Given the description of an element on the screen output the (x, y) to click on. 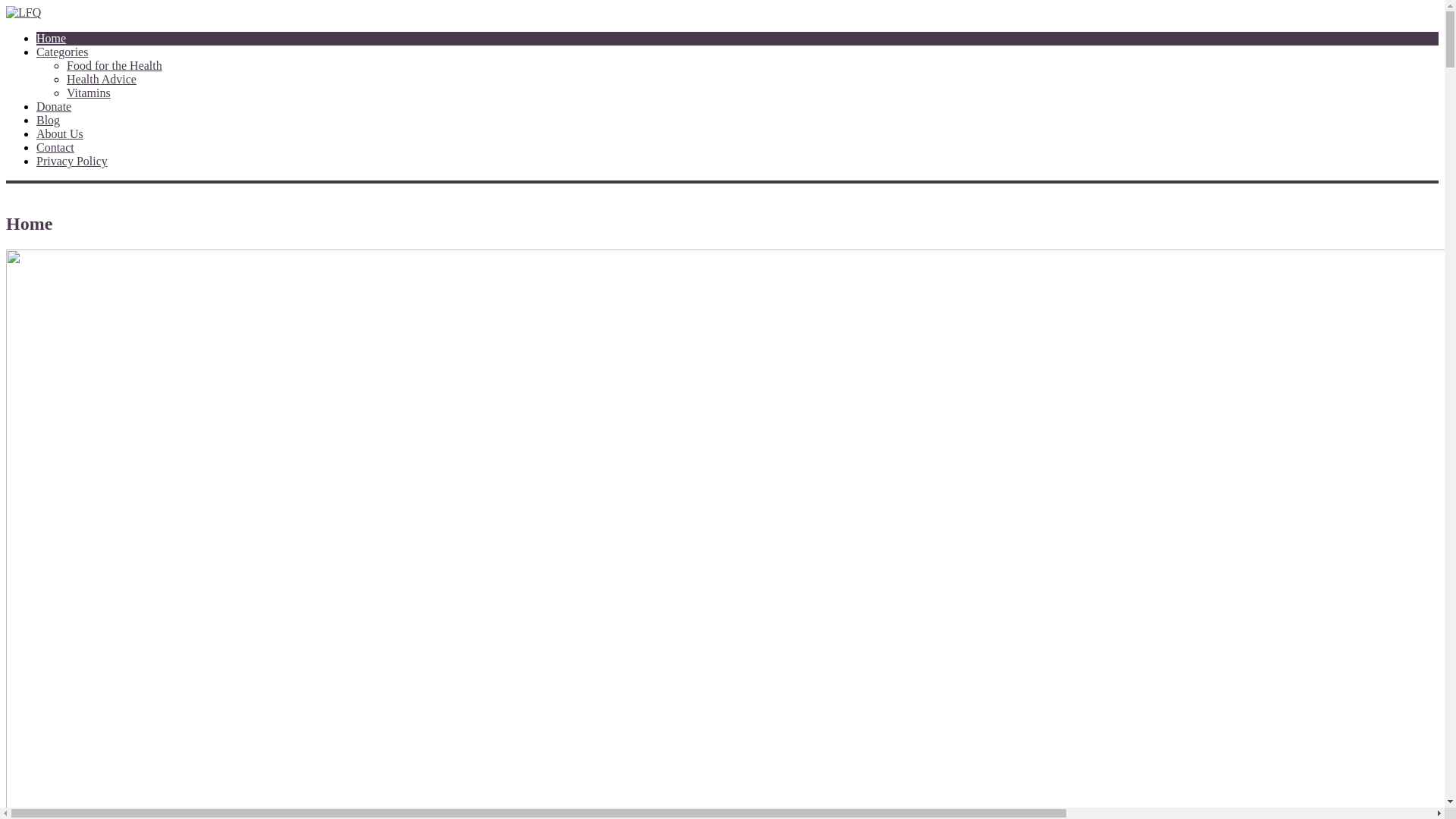
Home Element type: text (50, 37)
Categories Element type: text (61, 51)
About Us Element type: text (59, 133)
Health Advice Element type: text (101, 78)
Blog Element type: text (47, 119)
Donate Element type: text (53, 106)
Vitamins Element type: text (88, 92)
Food for the Health Element type: text (114, 65)
Privacy Policy Element type: text (71, 160)
Contact Element type: text (55, 147)
